Given the description of an element on the screen output the (x, y) to click on. 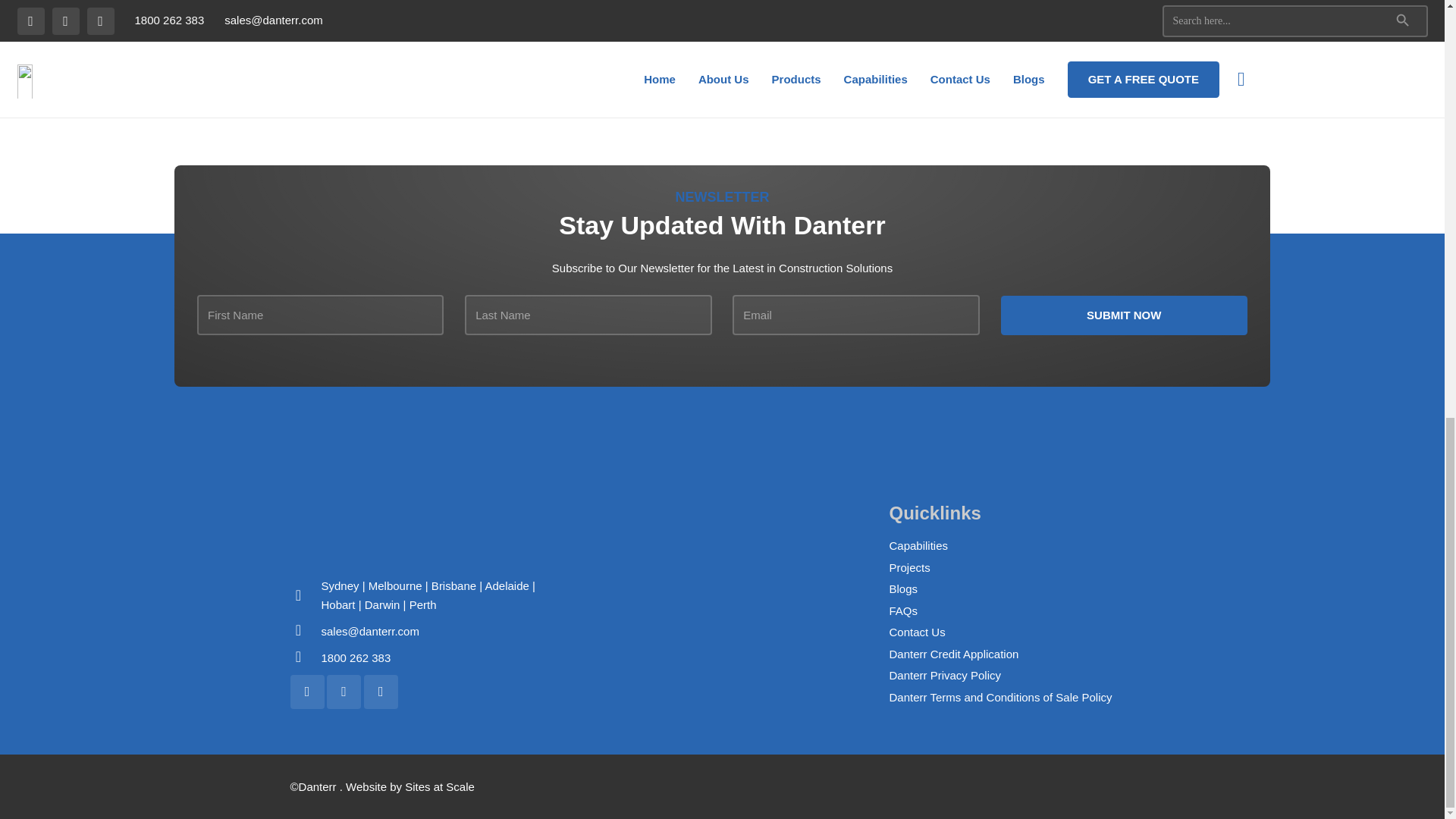
Back to top (1413, 5)
Submit Now (1124, 314)
LinkedIn (343, 691)
YouTube (380, 691)
Facebook (306, 691)
